Given the description of an element on the screen output the (x, y) to click on. 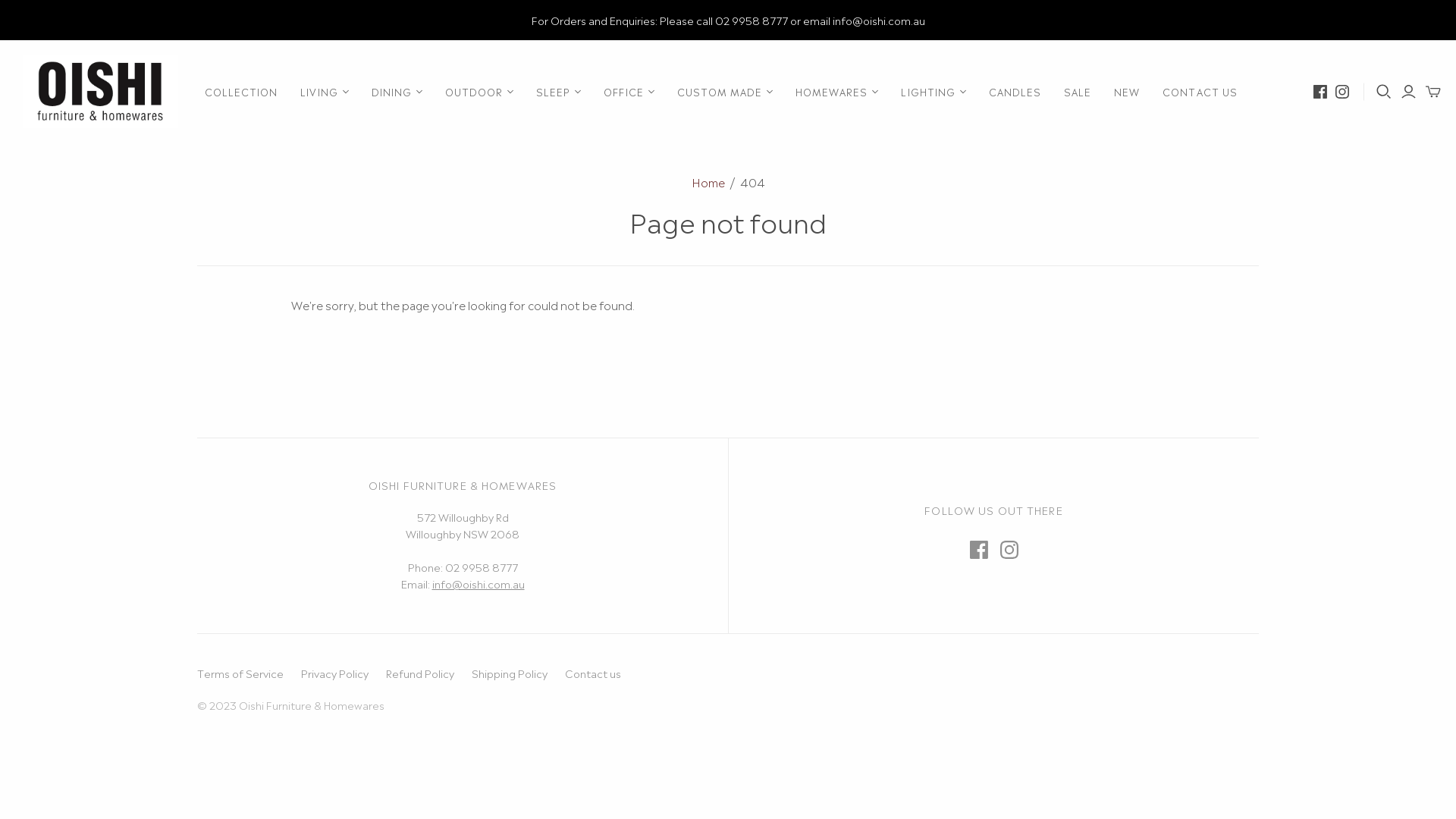
COLLECTION Element type: text (240, 91)
info@oishi.com.au Element type: text (478, 582)
Home Element type: text (707, 181)
CANDLES Element type: text (1014, 91)
NEW Element type: text (1126, 91)
DINING Element type: text (396, 91)
OFFICE Element type: text (628, 91)
Terms of Service Element type: text (240, 672)
LIVING Element type: text (323, 91)
CONTACT US Element type: text (1199, 91)
LIGHTING Element type: text (932, 91)
Shipping Policy Element type: text (509, 672)
HOMEWARES Element type: text (836, 91)
Contact us Element type: text (592, 672)
SALE Element type: text (1077, 91)
SLEEP Element type: text (558, 91)
OUTDOOR Element type: text (478, 91)
CUSTOM MADE Element type: text (724, 91)
Privacy Policy Element type: text (334, 672)
Refund Policy Element type: text (419, 672)
